Given the description of an element on the screen output the (x, y) to click on. 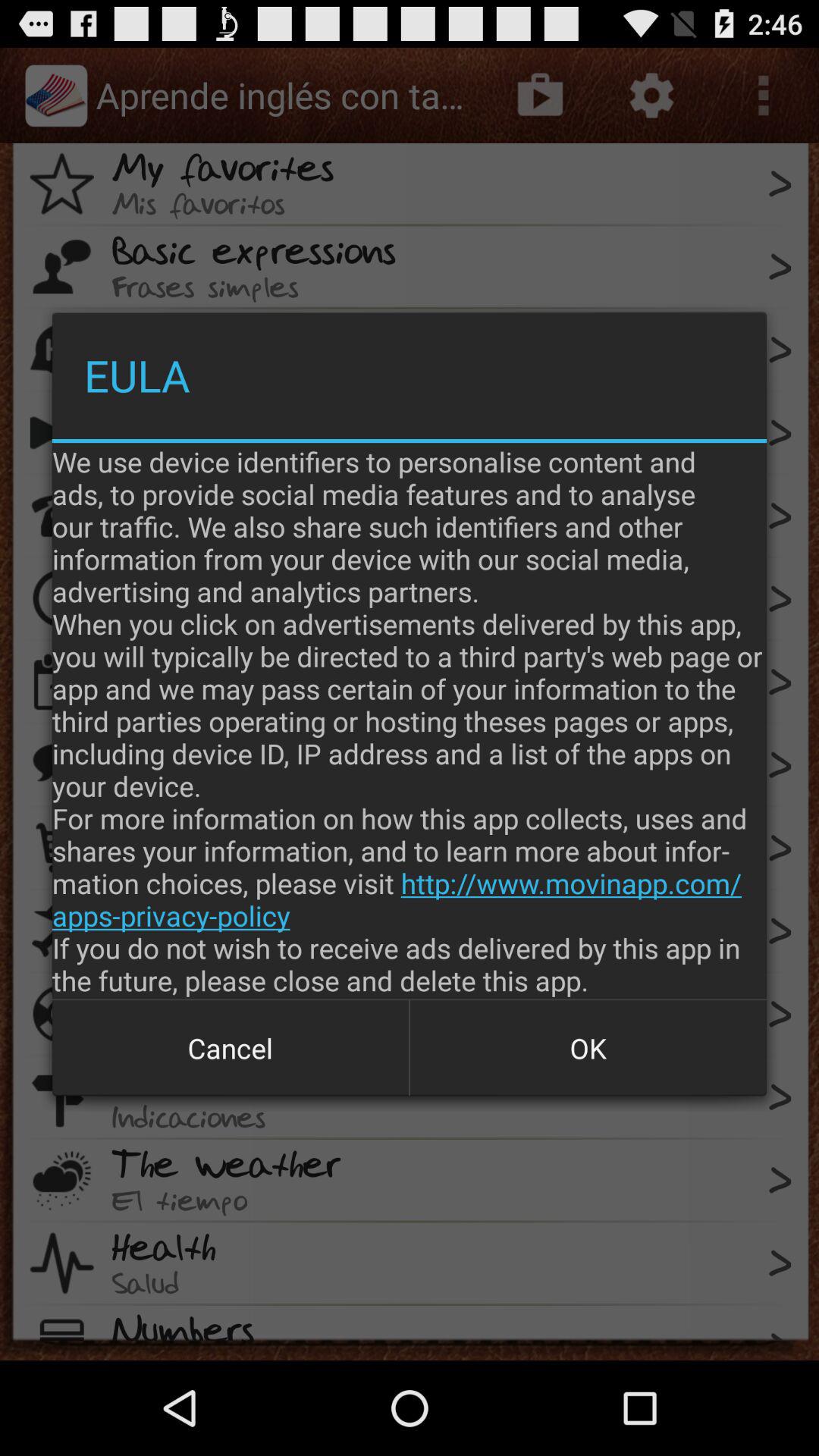
select app below we use device item (230, 1047)
